Given the description of an element on the screen output the (x, y) to click on. 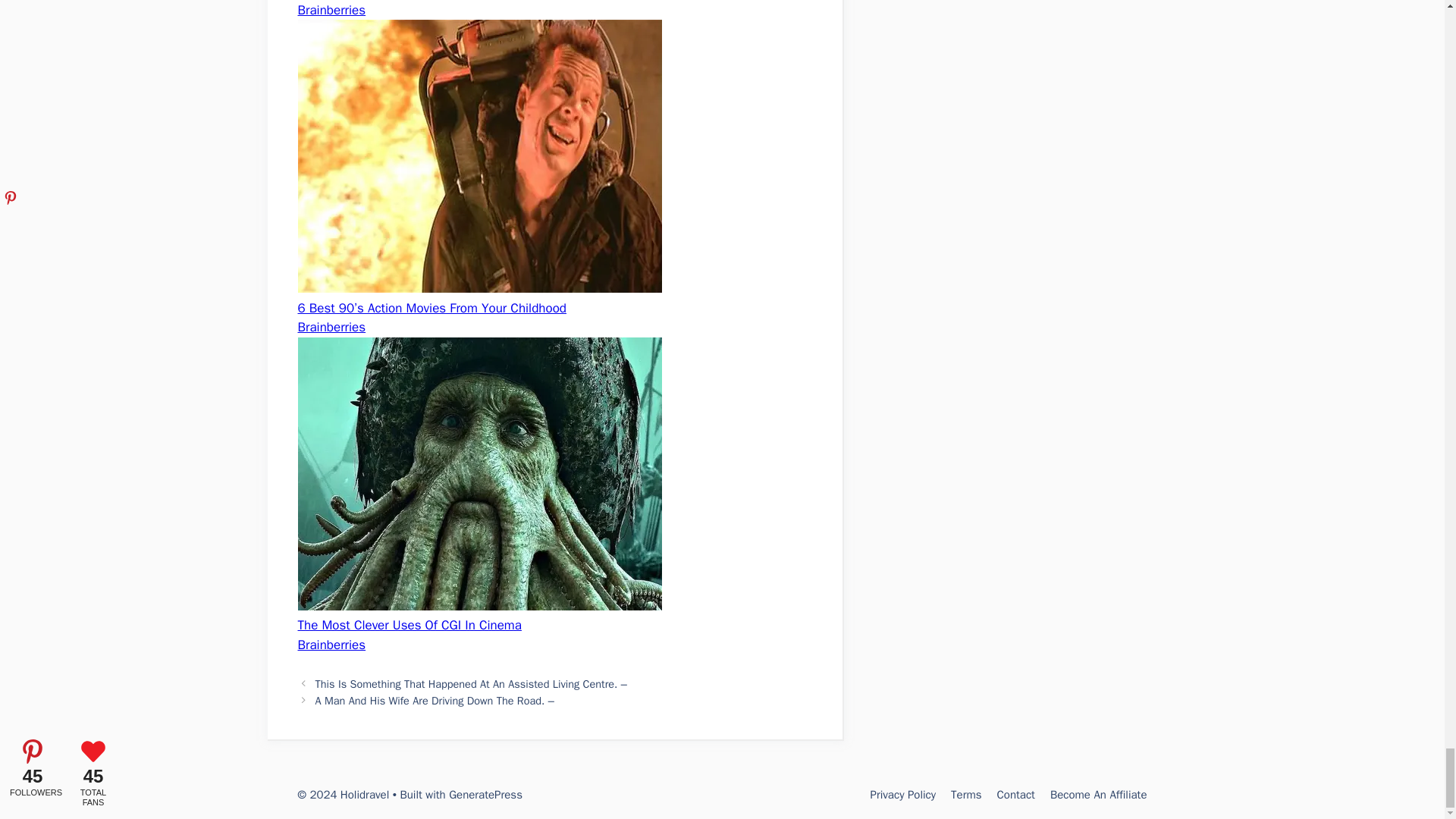
Become An Affiliate (1098, 794)
Contact (1016, 794)
Privacy Policy (902, 794)
Terms (965, 794)
GeneratePress (485, 794)
